Given the description of an element on the screen output the (x, y) to click on. 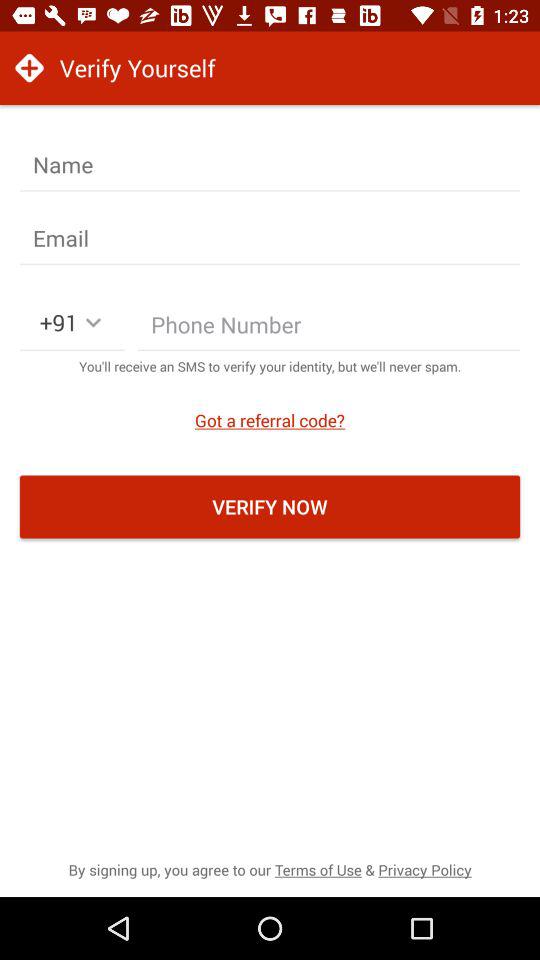
phone number field (329, 329)
